Given the description of an element on the screen output the (x, y) to click on. 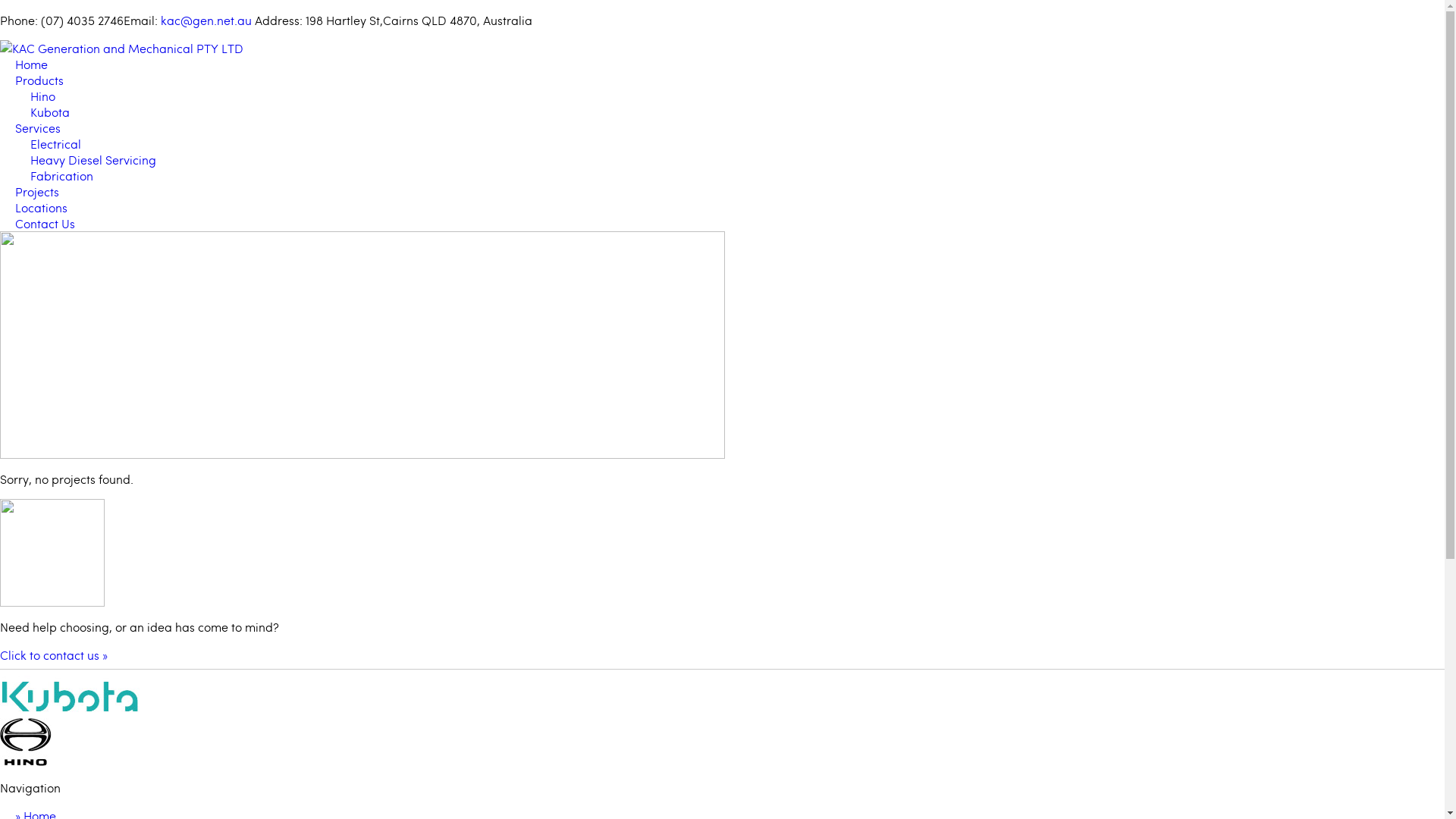
KAC Generation and Mechanical PTY LTD Element type: hover (121, 48)
Home Element type: text (31, 64)
kac@gen.net.au Element type: text (205, 20)
Products Element type: text (39, 79)
Services Element type: text (37, 127)
Projects Element type: text (37, 191)
Hino Element type: text (42, 95)
Contact Us Element type: text (45, 223)
Heavy Diesel Servicing Element type: text (93, 159)
Locations Element type: text (41, 207)
Kubota Element type: text (49, 111)
Fabrication Element type: text (61, 175)
Kubota Element type: hover (72, 696)
Electrical Element type: text (55, 143)
Hino Element type: hover (25, 742)
